Given the description of an element on the screen output the (x, y) to click on. 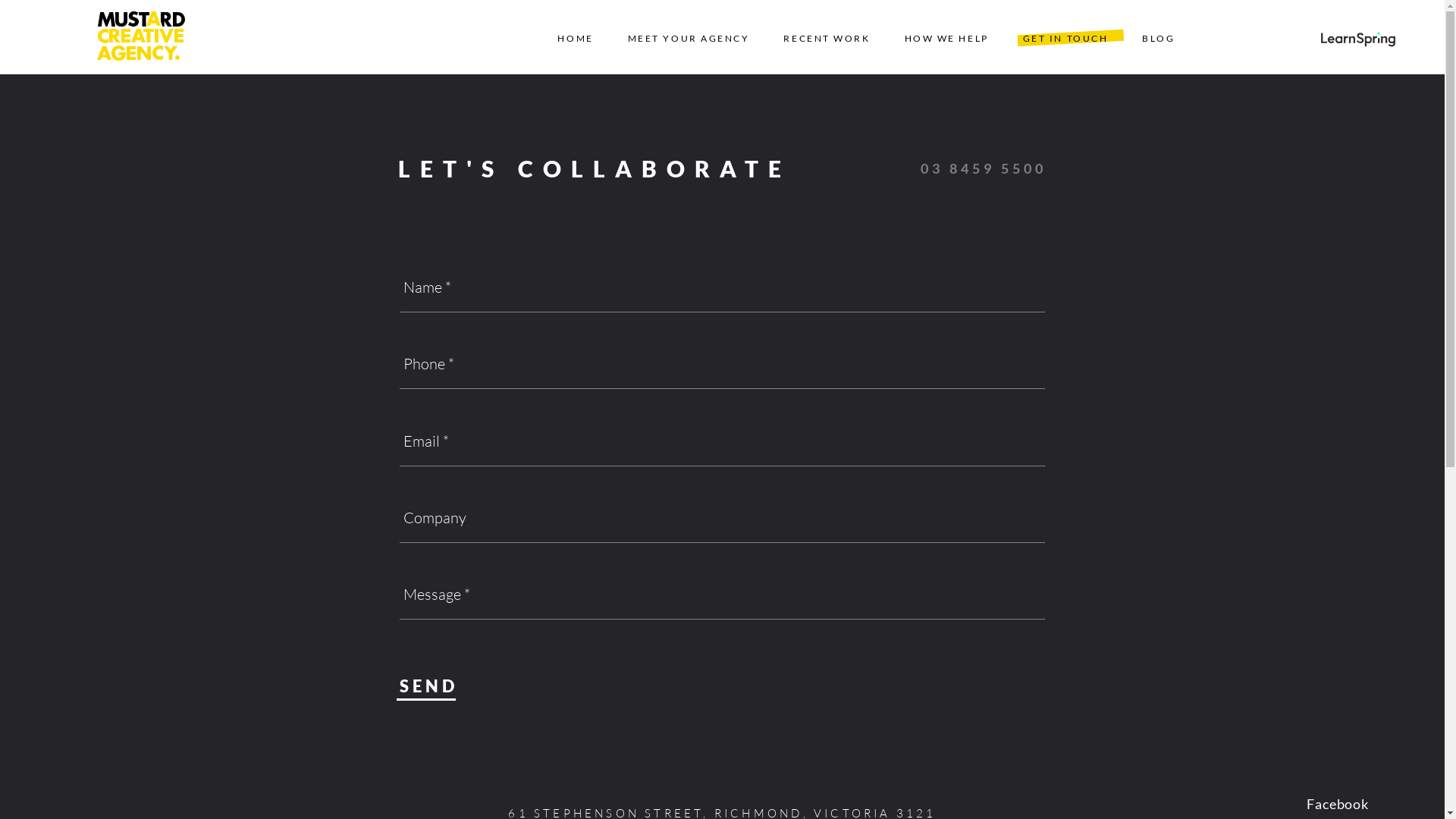
Go Home Element type: hover (140, 37)
SEND Element type: text (428, 685)
Go Home Element type: hover (1333, 36)
Facebook Element type: text (1335, 803)
HOW WE HELP Element type: text (946, 37)
BLOG Element type: text (1158, 37)
HOME Element type: text (575, 37)
MEET YOUR AGENCY Element type: text (688, 37)
GET IN TOUCH Element type: text (1064, 37)
03 8459 5500 Element type: text (965, 167)
RECENT WORK Element type: text (826, 37)
